Given the description of an element on the screen output the (x, y) to click on. 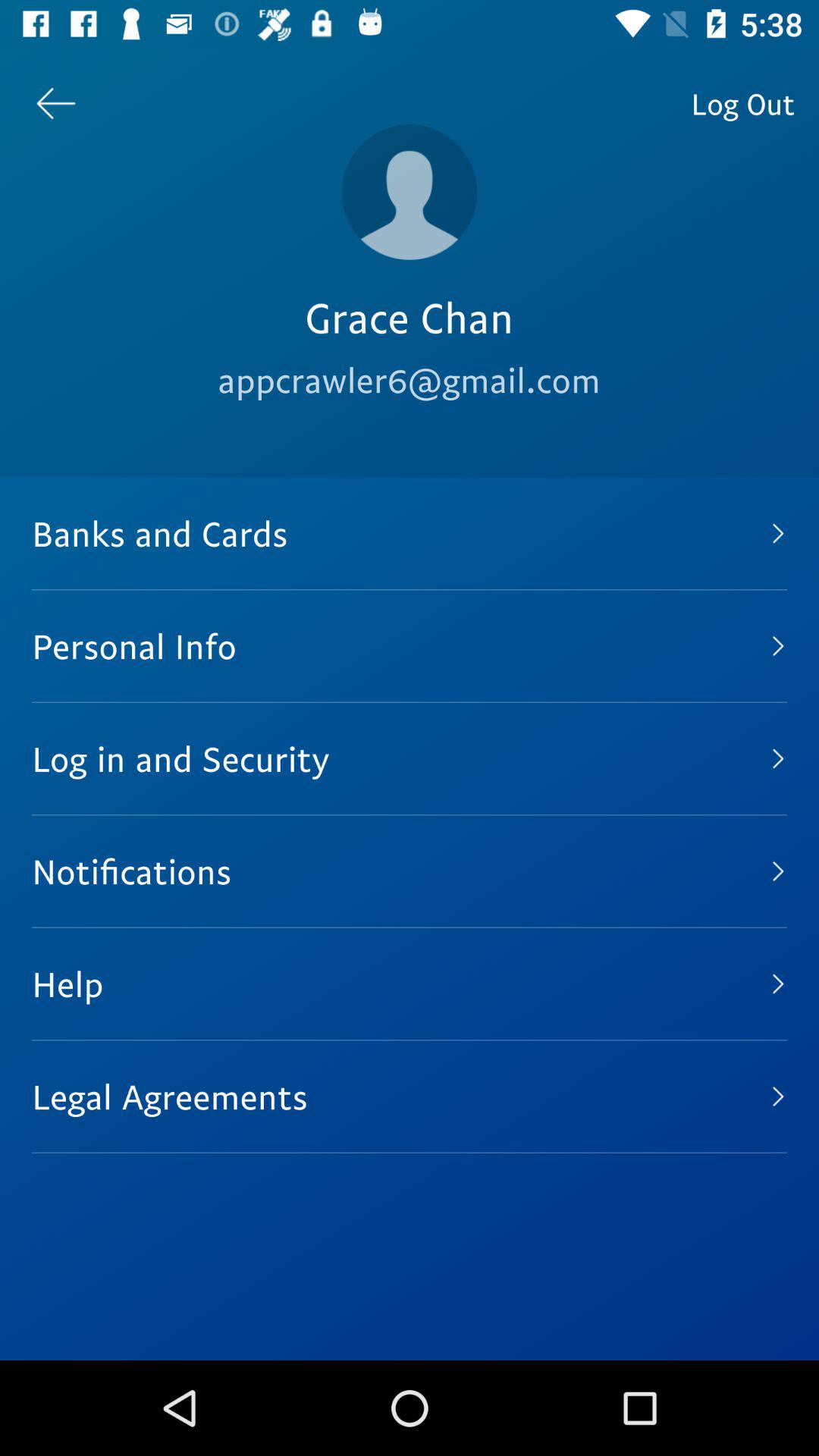
launch item above grace chan (409, 191)
